Given the description of an element on the screen output the (x, y) to click on. 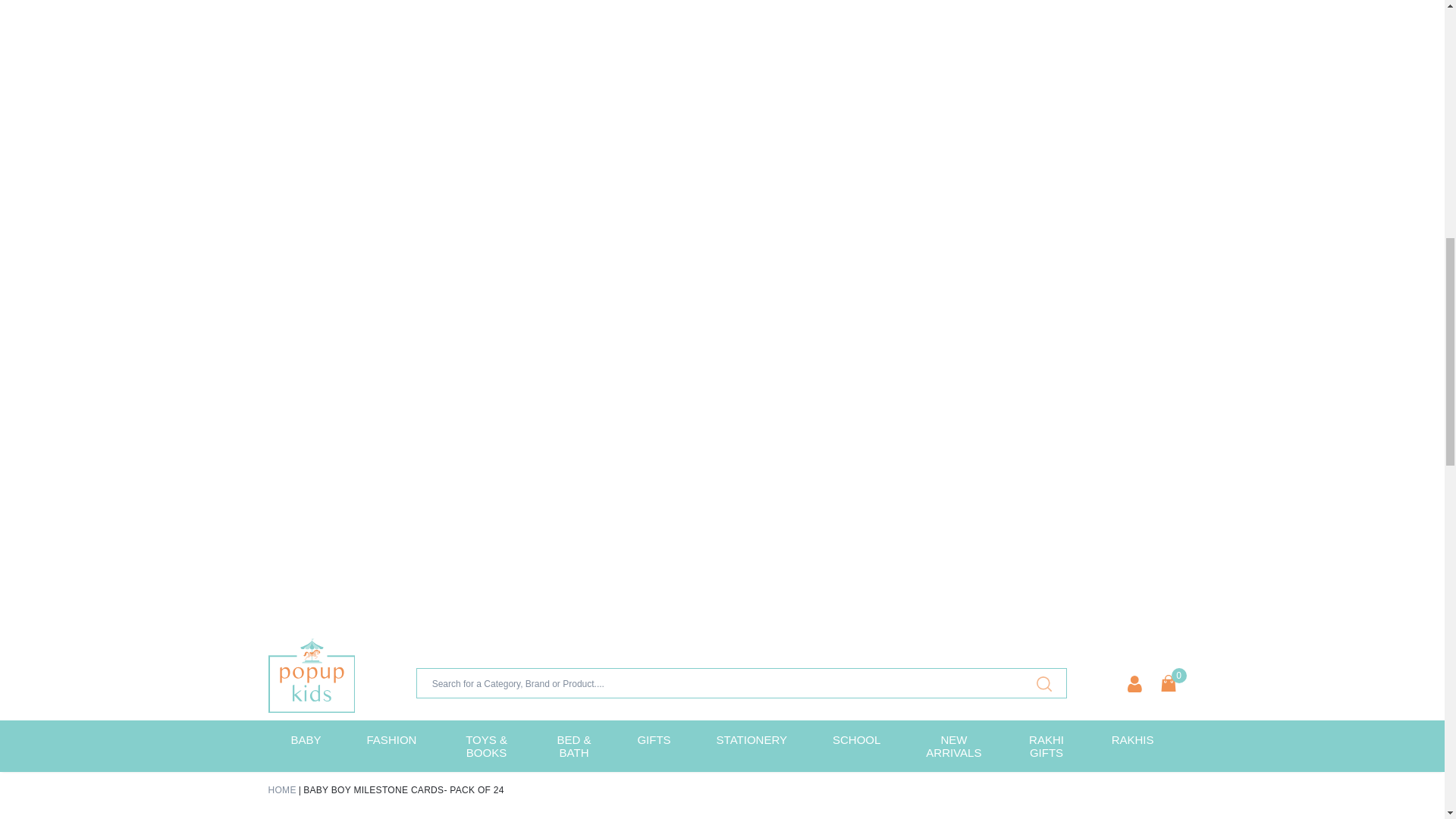
Logo (311, 675)
0 (1168, 682)
Cart Icon (1168, 682)
